Given the description of an element on the screen output the (x, y) to click on. 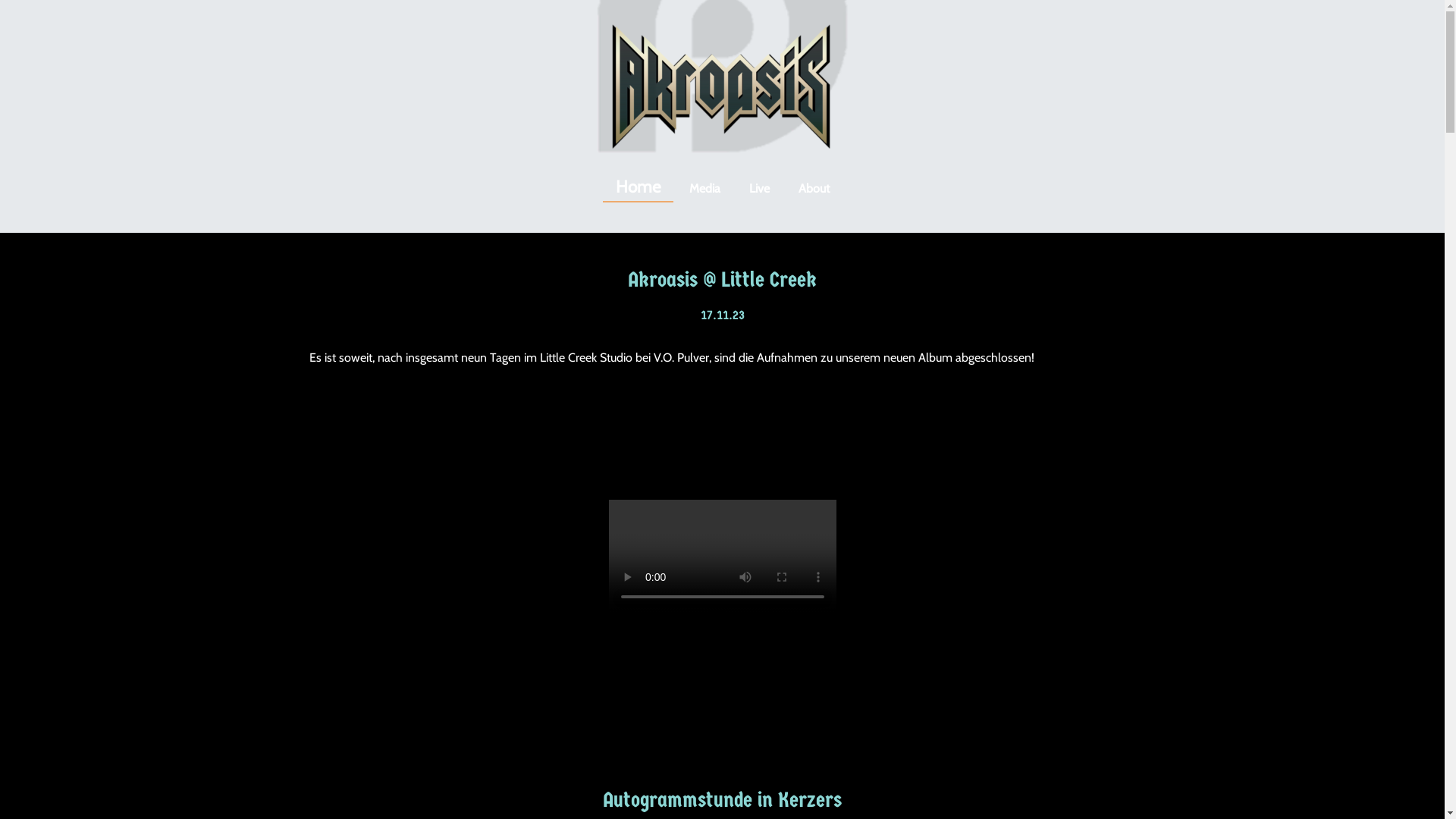
Home Element type: text (637, 187)
Live Element type: text (758, 188)
About Element type: text (813, 188)
akroasis-logo-golden Element type: hover (721, 86)
Media Element type: text (704, 188)
